Given the description of an element on the screen output the (x, y) to click on. 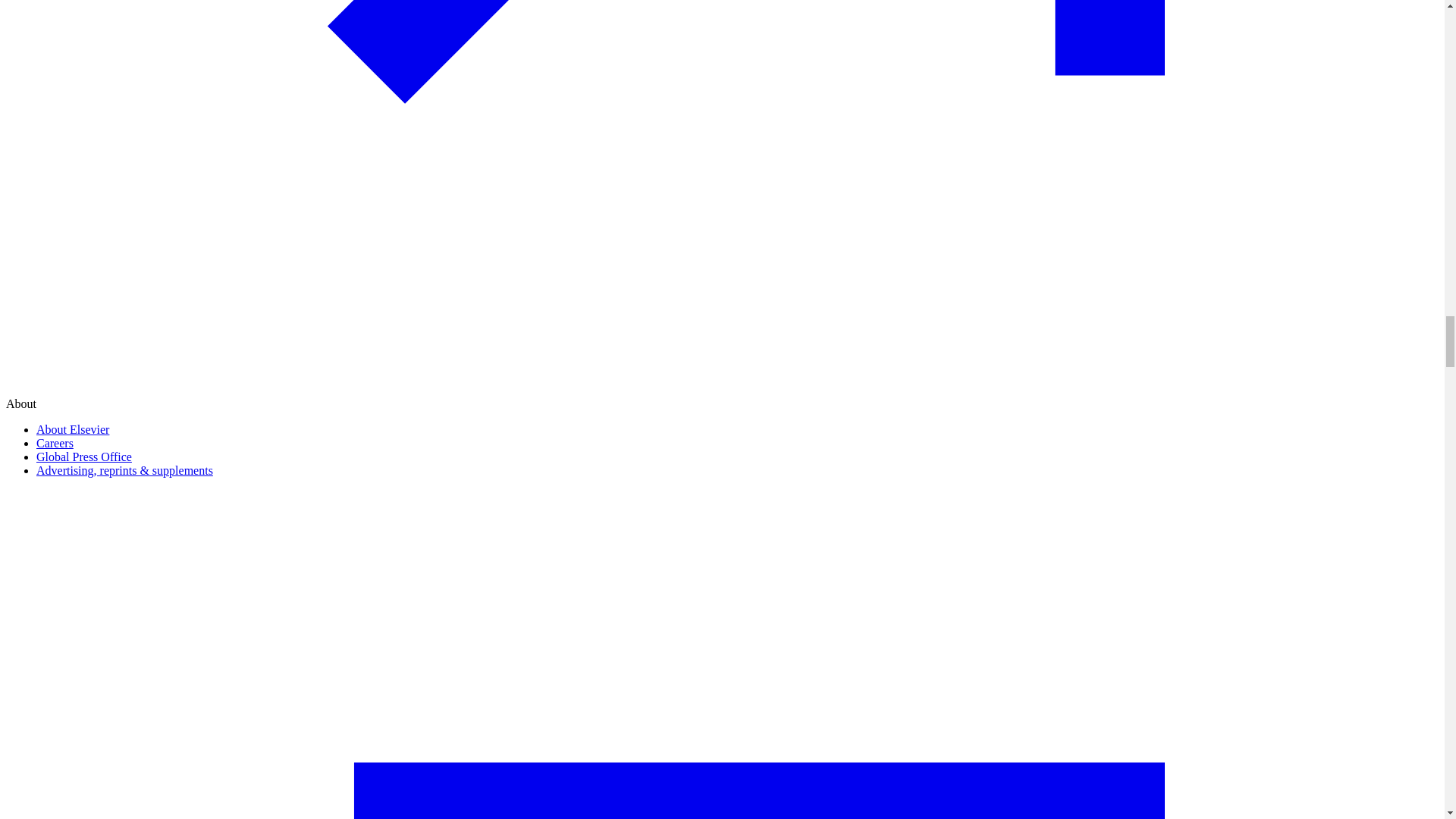
Careers (55, 442)
Global Press Office (84, 456)
About Elsevier (72, 429)
